Given the description of an element on the screen output the (x, y) to click on. 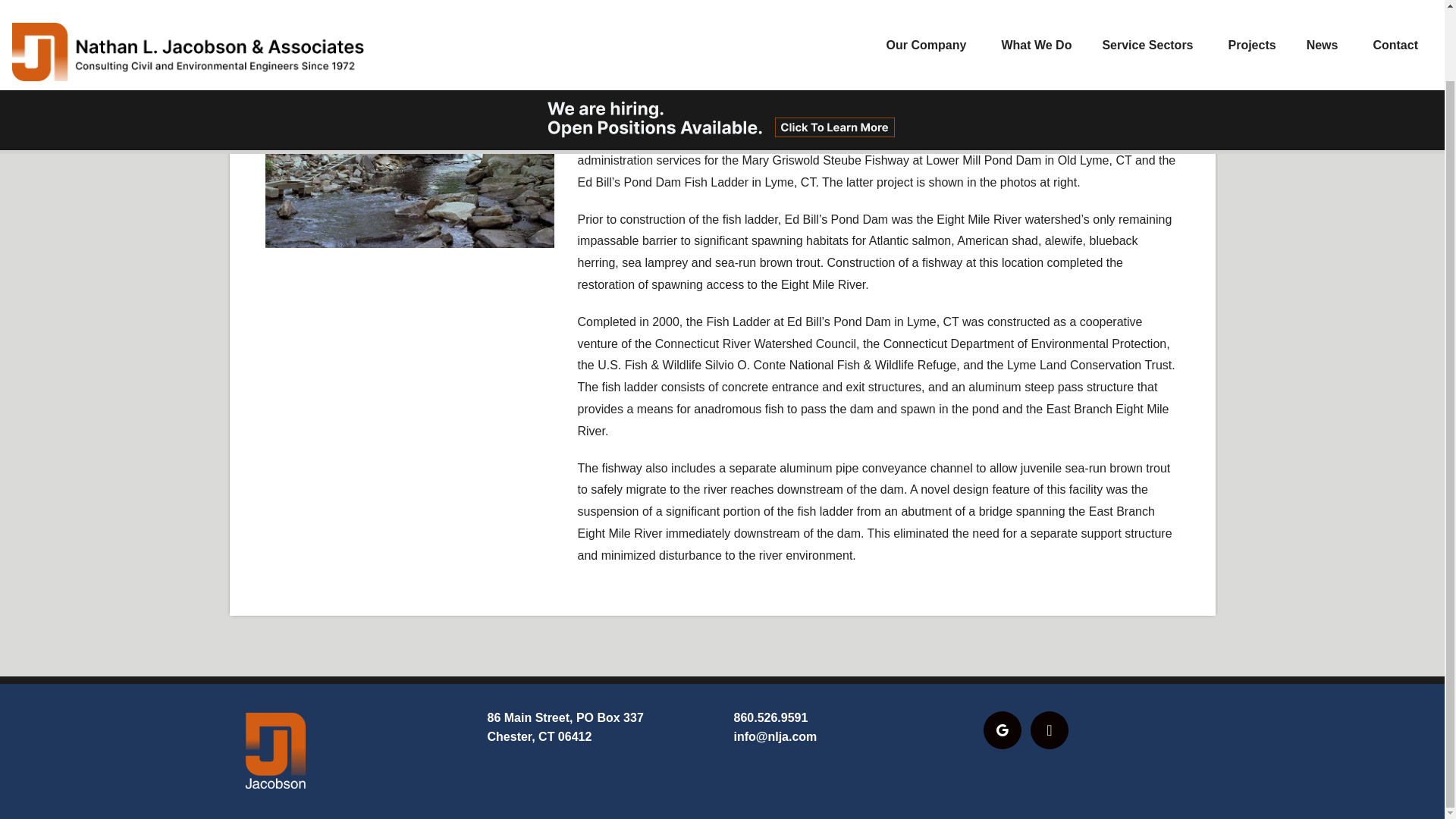
860.526.9591 (770, 717)
linkedin (1049, 728)
googleplus (1001, 728)
